Given the description of an element on the screen output the (x, y) to click on. 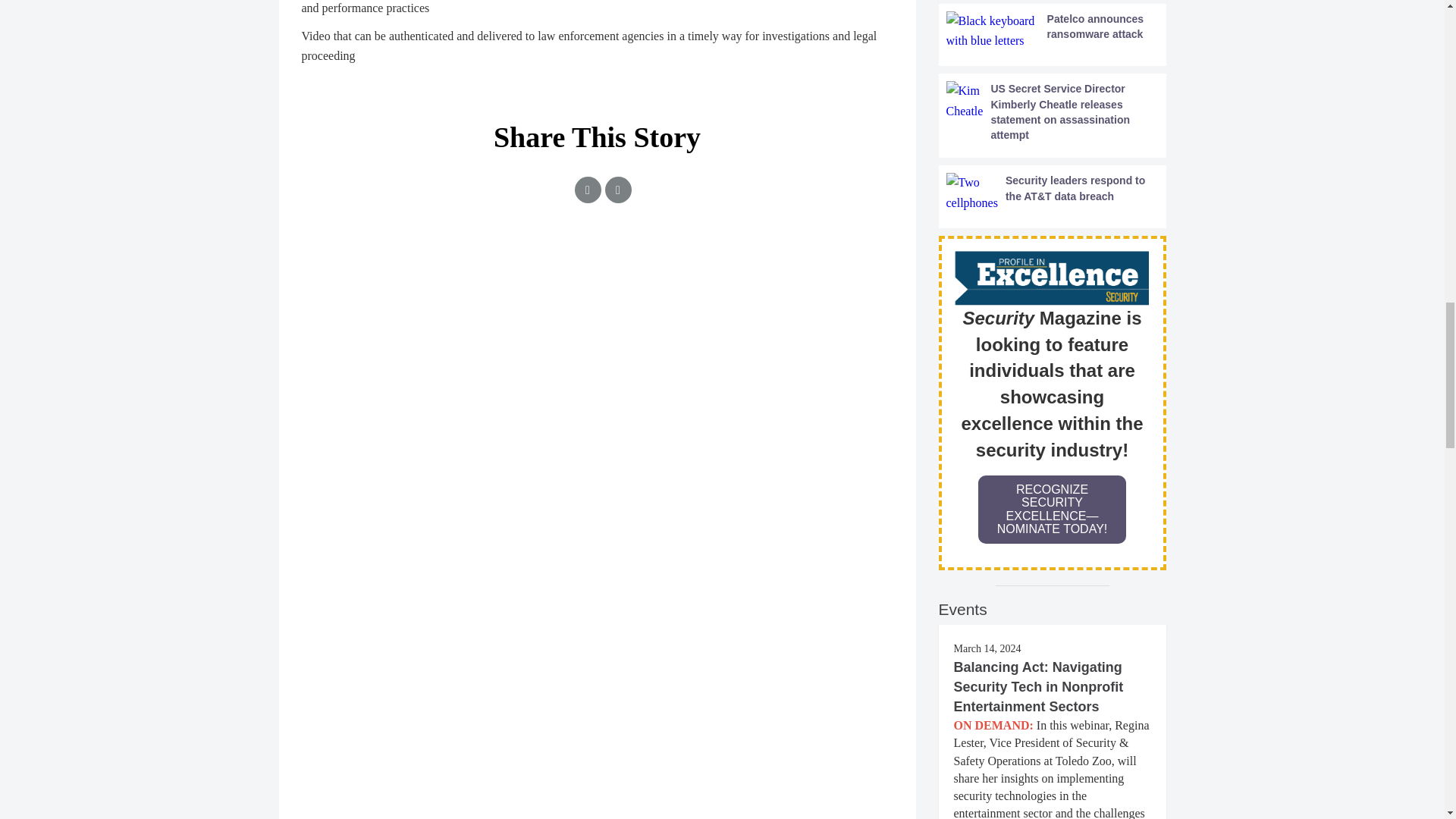
Patelco announces ransomware attack (1052, 31)
